Given the description of an element on the screen output the (x, y) to click on. 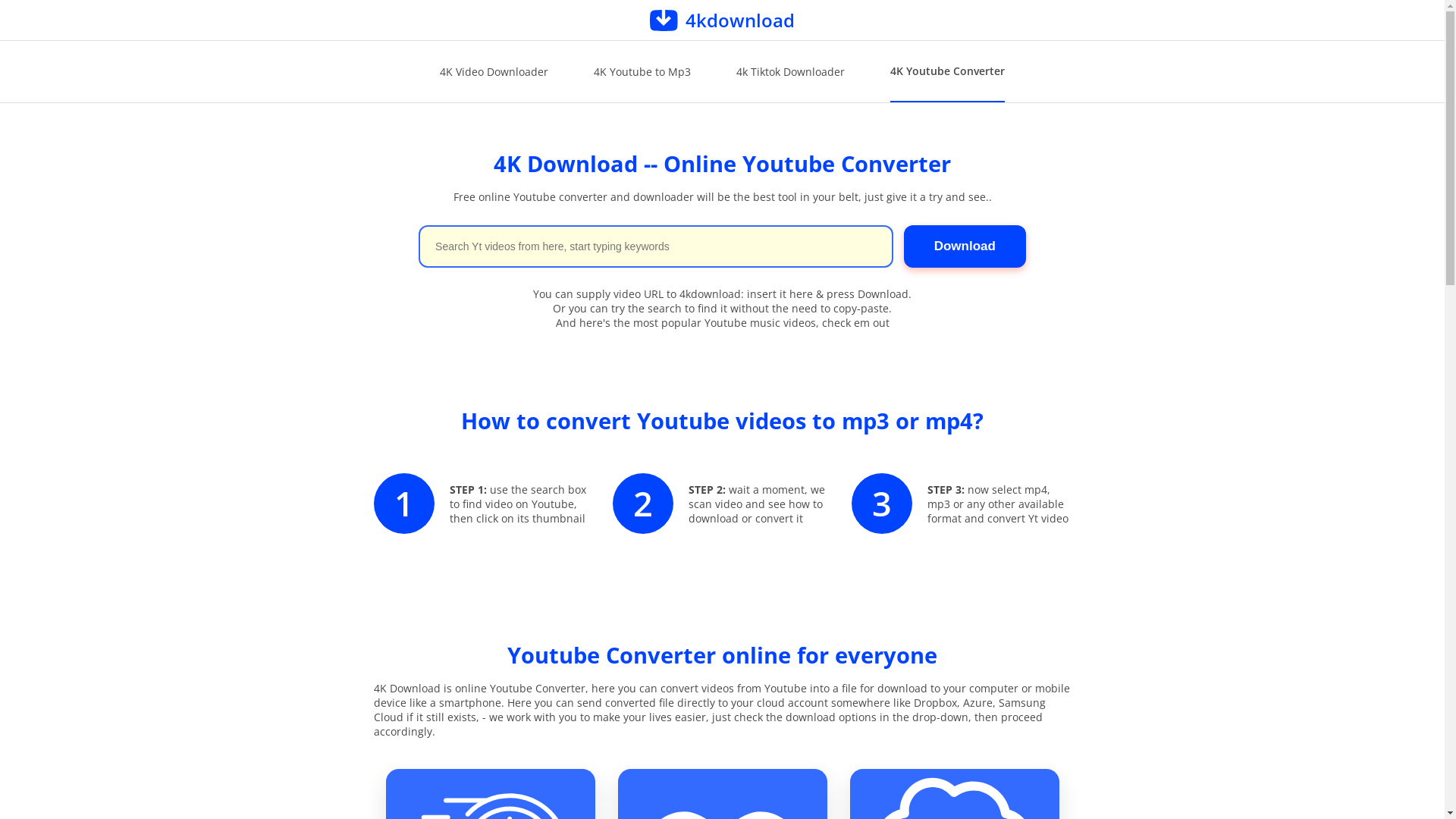
Download Element type: text (964, 246)
4K Youtube to Mp3 Element type: text (641, 71)
4K Youtube Converter Element type: text (947, 71)
4K Video Downloader Element type: text (493, 71)
4k Tiktok Downloader Element type: text (790, 71)
4kdownload Element type: text (721, 19)
